Given the description of an element on the screen output the (x, y) to click on. 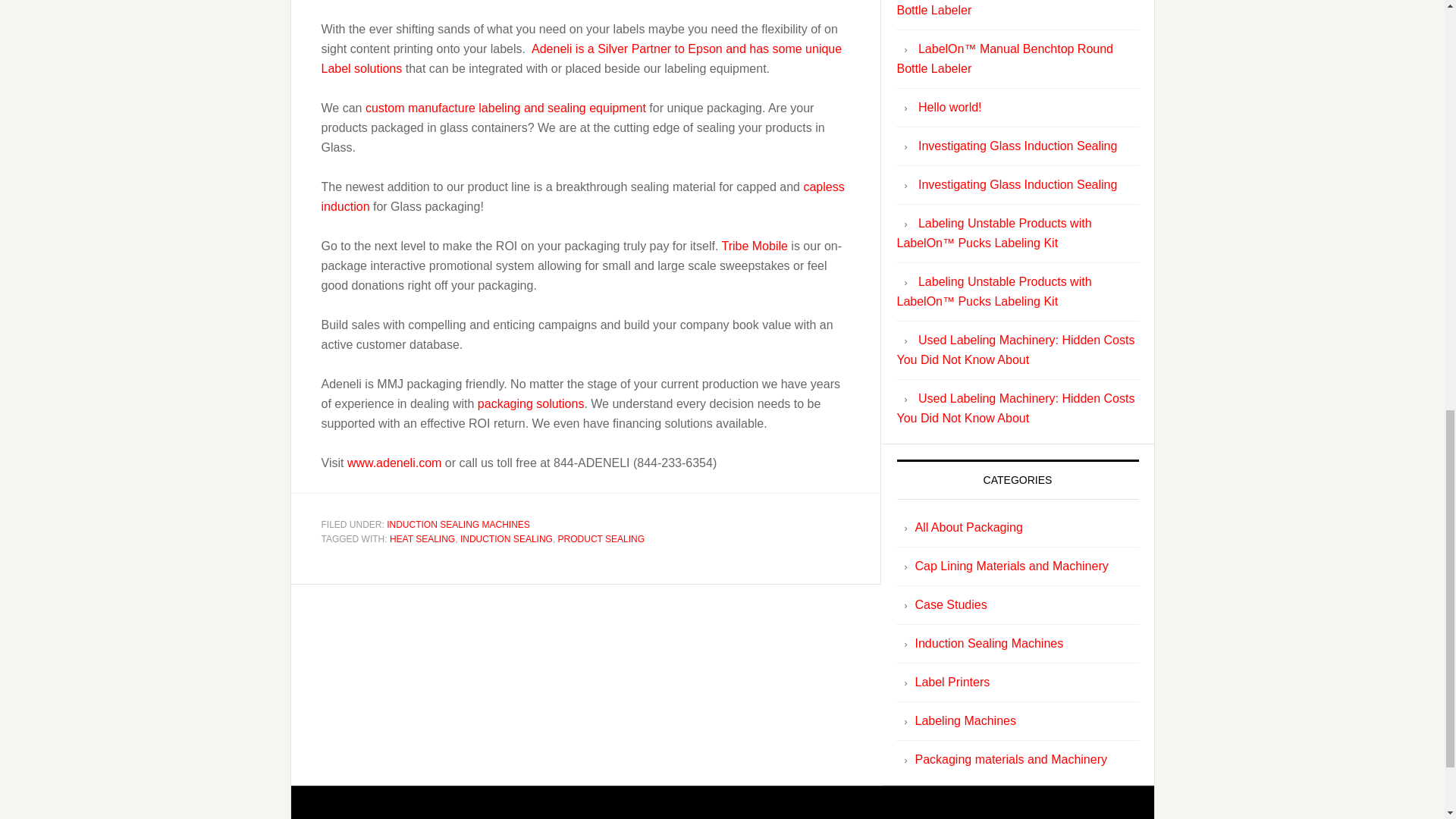
Hello world! (949, 106)
custom manufacture labeling and sealing equipment (505, 106)
INDUCTION SEALING (506, 538)
PRODUCT SEALING (601, 538)
www.adeneli.com (394, 461)
INDUCTION SEALING MACHINES (458, 524)
Investigating Glass Induction Sealing (1017, 145)
HEAT SEALING (422, 538)
packaging solutions (531, 402)
